Given the description of an element on the screen output the (x, y) to click on. 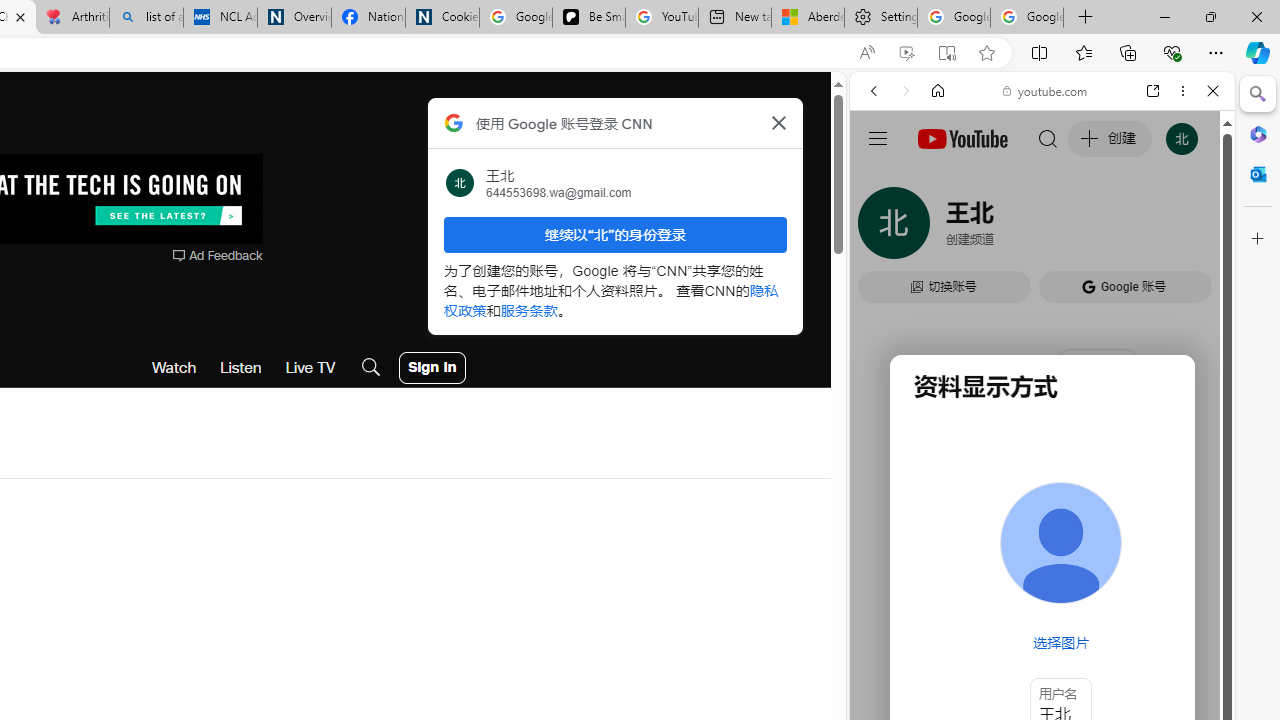
Listen (241, 367)
Search videos from youtube.com (1005, 657)
Music (1042, 543)
#you (1042, 445)
User Account Log In Button (432, 367)
